Given the description of an element on the screen output the (x, y) to click on. 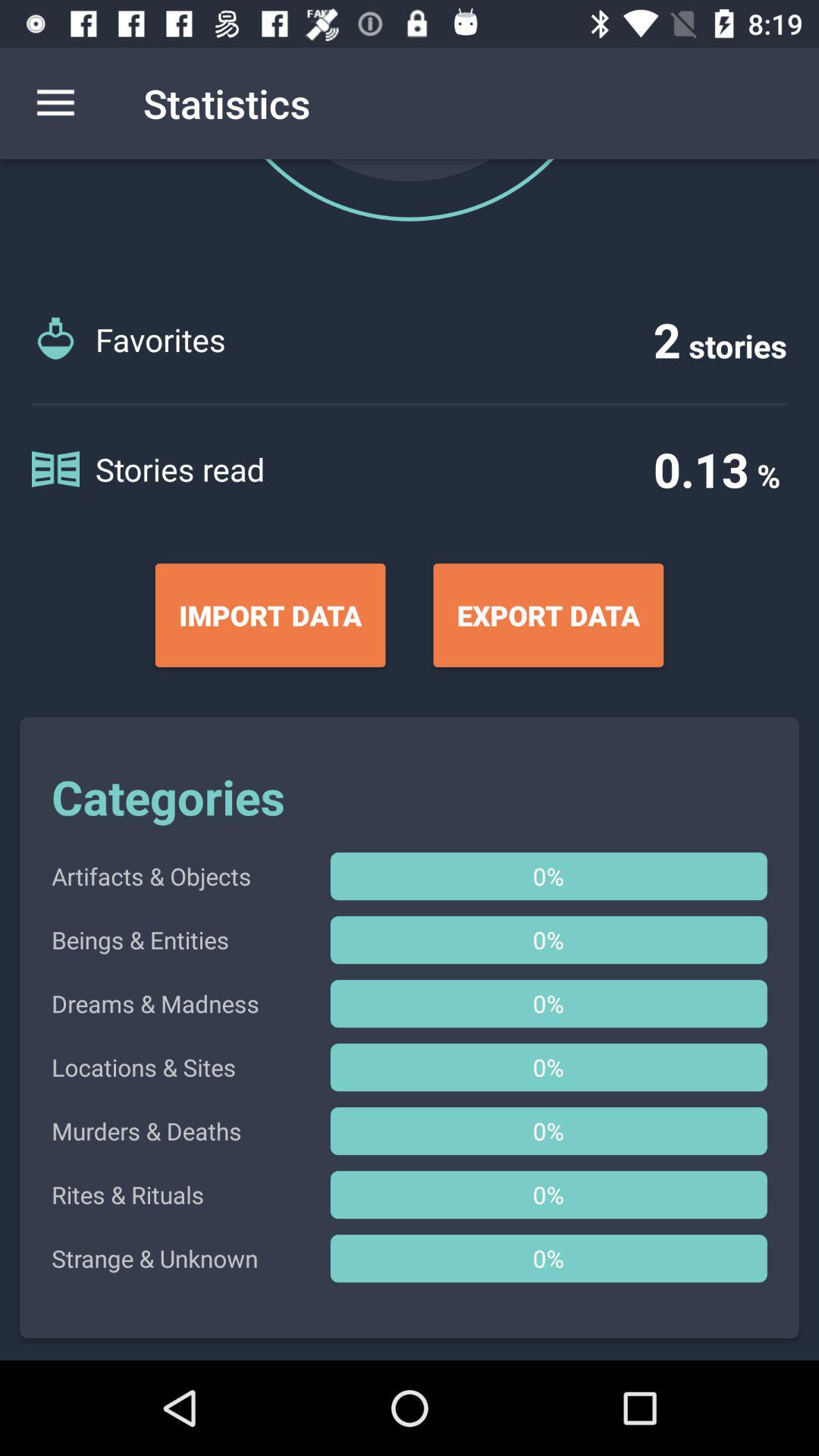
tap the icon to the left of the export data item (270, 615)
